Given the description of an element on the screen output the (x, y) to click on. 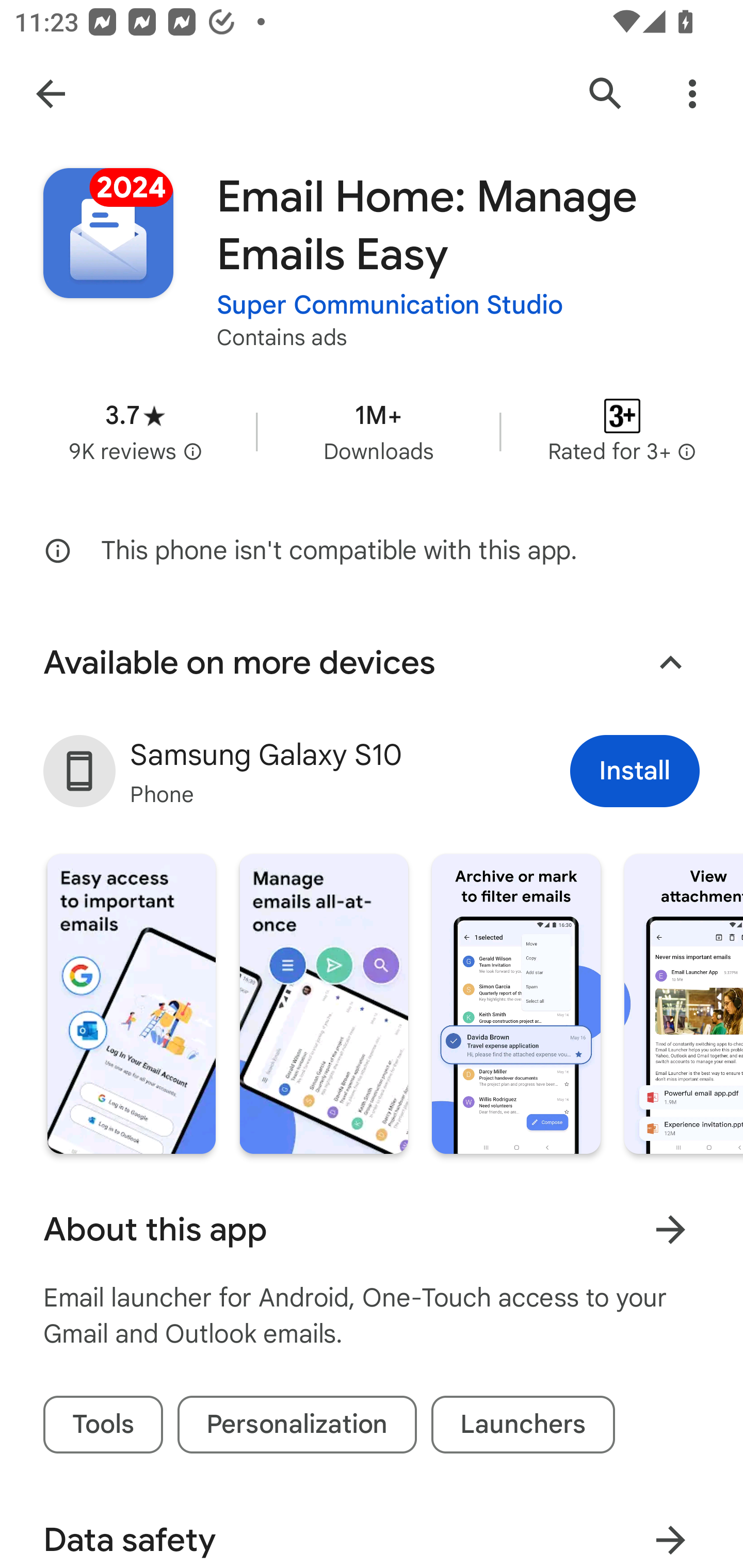
Navigate up (50, 93)
Search Google Play (605, 93)
More Options (692, 93)
Super Communication Studio (389, 304)
Average rating 3.7 stars in 9 thousand reviews (135, 431)
Content rating Rated for 3+ (622, 431)
Available on more devices Collapse (371, 662)
Collapse (670, 662)
Install (634, 770)
Screenshot "1" of "6" (130, 1004)
Screenshot "2" of "6" (323, 1004)
Screenshot "3" of "6" (515, 1004)
Screenshot "4" of "6" (683, 1004)
About this app Learn more About this app (371, 1229)
Learn more About this app (670, 1229)
Tools tag (102, 1424)
Personalization tag (296, 1424)
Launchers tag (523, 1424)
Data safety Learn more about data safety (371, 1528)
Learn more about data safety (670, 1532)
